Given the description of an element on the screen output the (x, y) to click on. 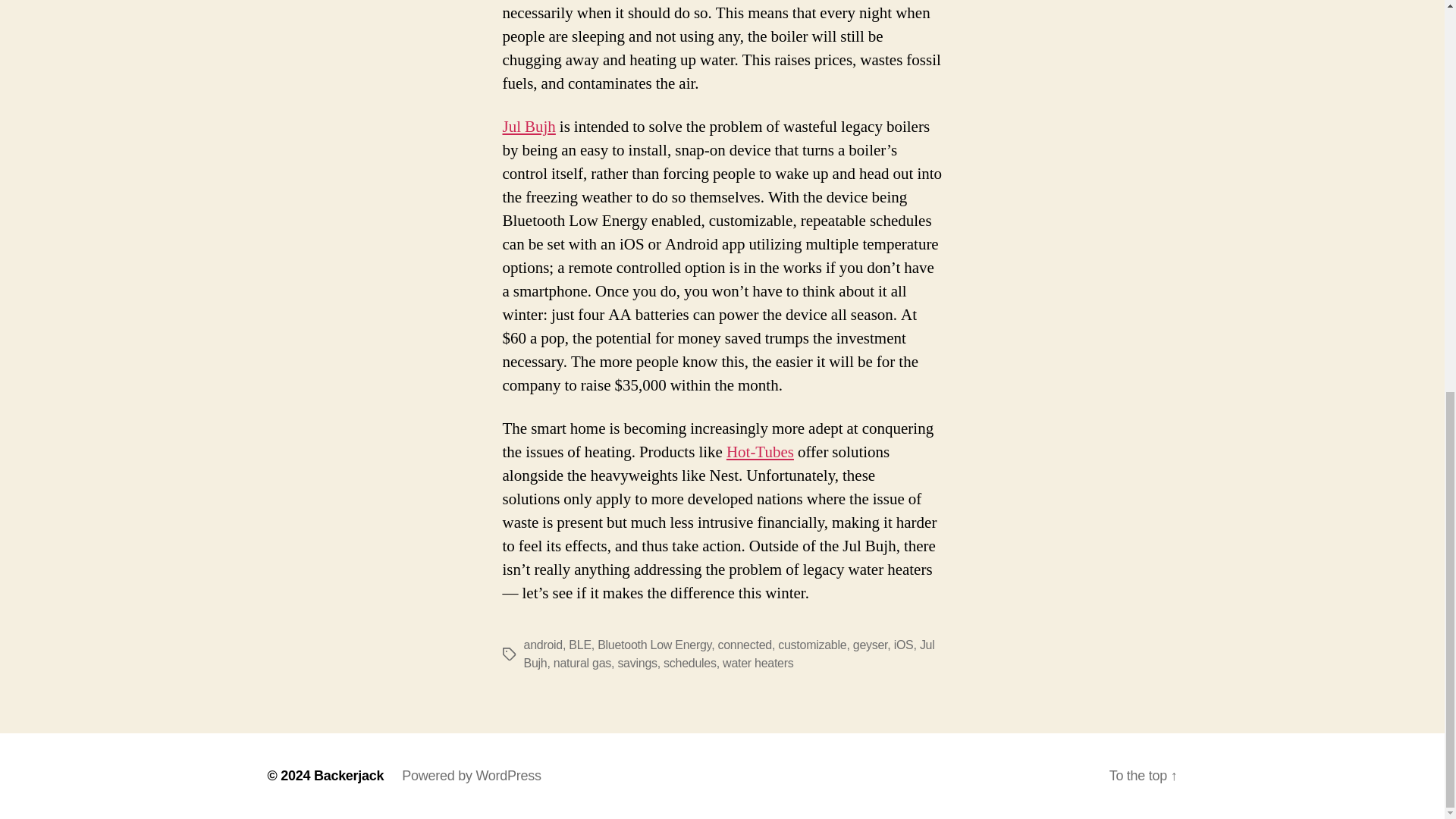
android (542, 644)
schedules (689, 662)
Bluetooth Low Energy (653, 644)
Jul Bujh (728, 653)
customizable (811, 644)
geyser (870, 644)
Hot-Tubes (759, 452)
natural gas (582, 662)
BLE (580, 644)
Powered by WordPress (470, 775)
water heaters (757, 662)
Jul Bujh (528, 127)
connected (744, 644)
iOS (903, 644)
Backerjack (349, 775)
